Given the description of an element on the screen output the (x, y) to click on. 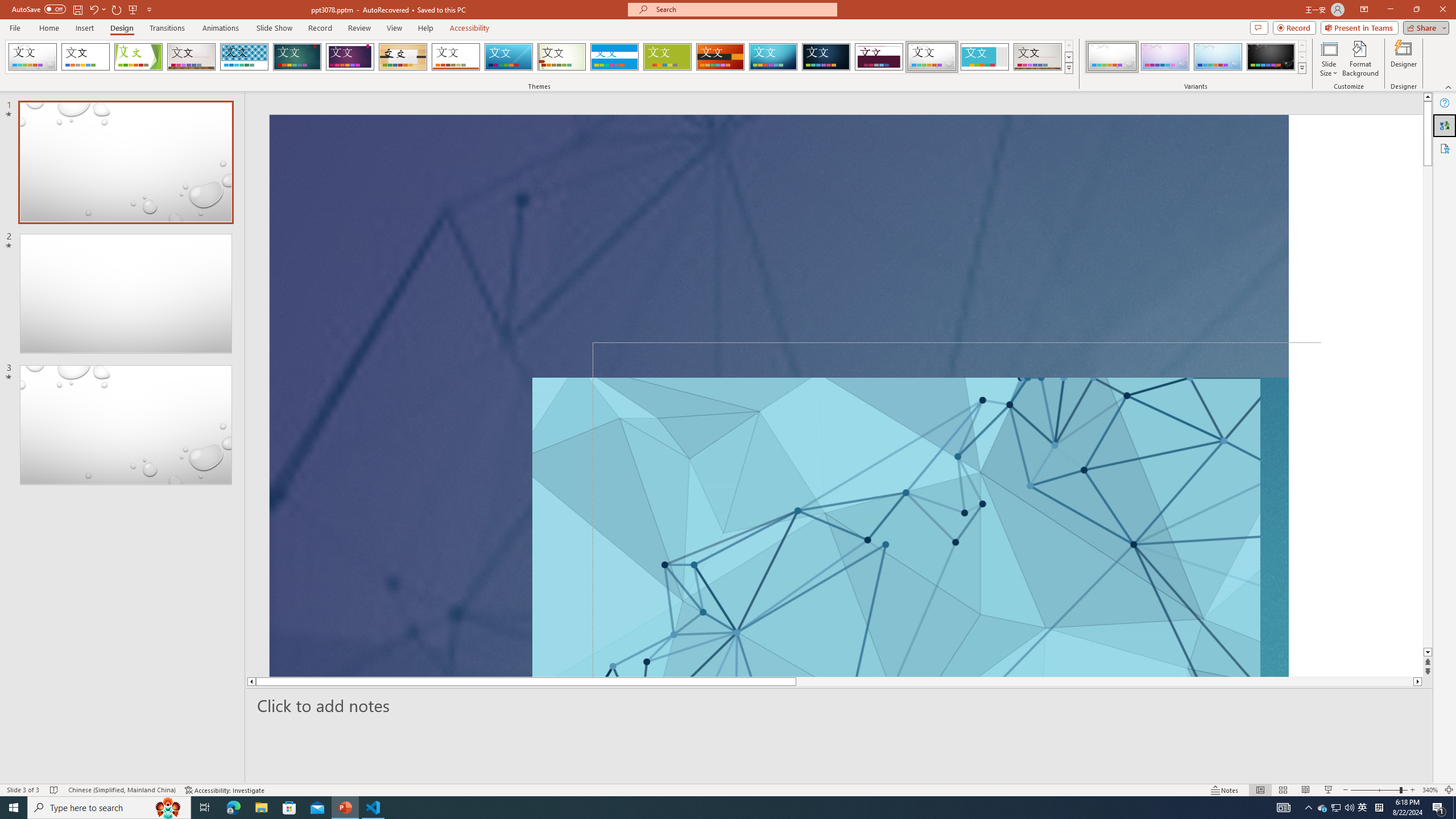
Frame (984, 56)
Dividend (879, 56)
Droplet Variant 1 (1112, 56)
